Given the description of an element on the screen output the (x, y) to click on. 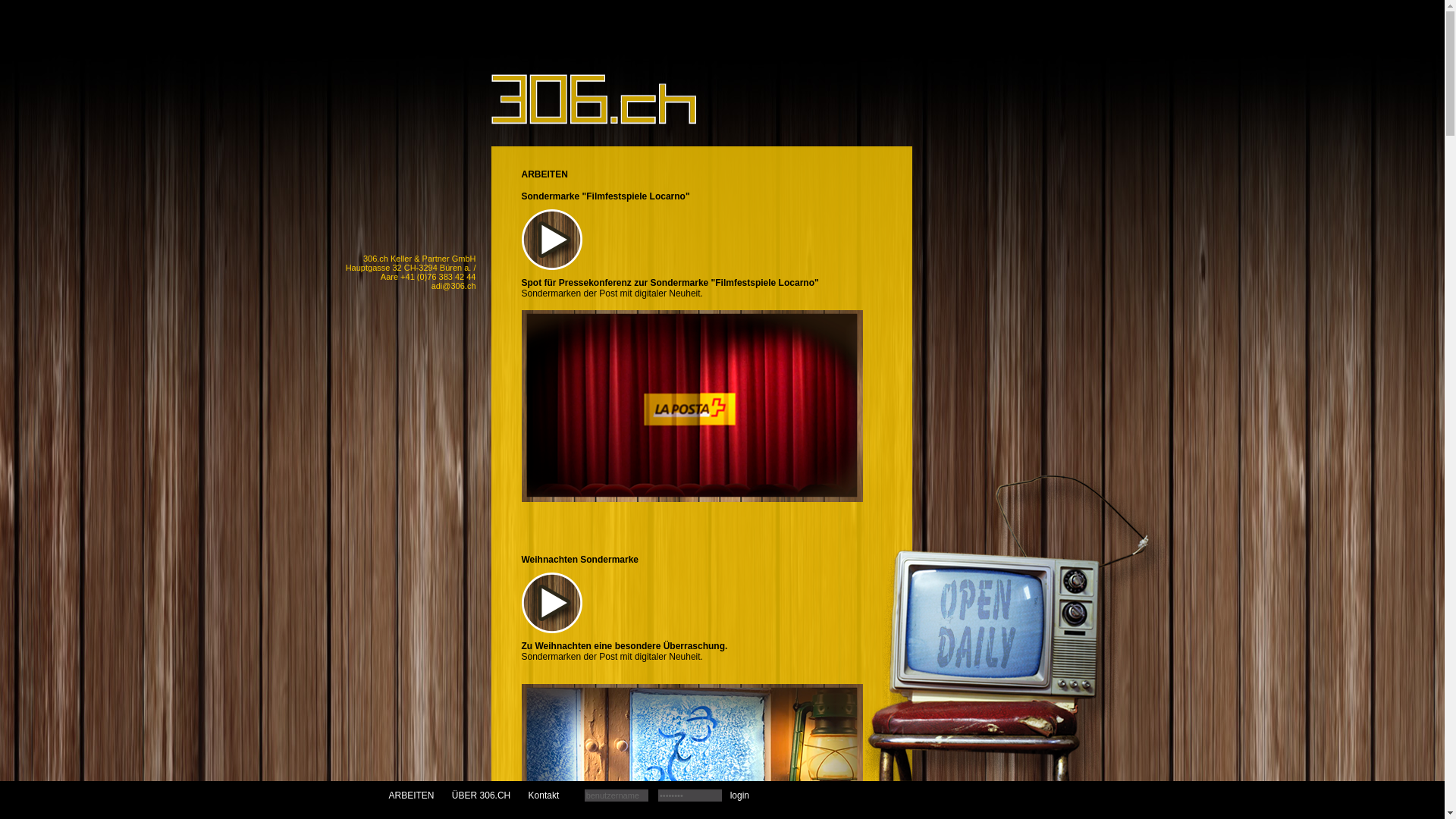
ARBEITEN Element type: text (410, 795)
login Element type: text (739, 795)
Kontakt Element type: text (543, 795)
306.ch Keller und Partner Element type: hover (543, 88)
